Given the description of an element on the screen output the (x, y) to click on. 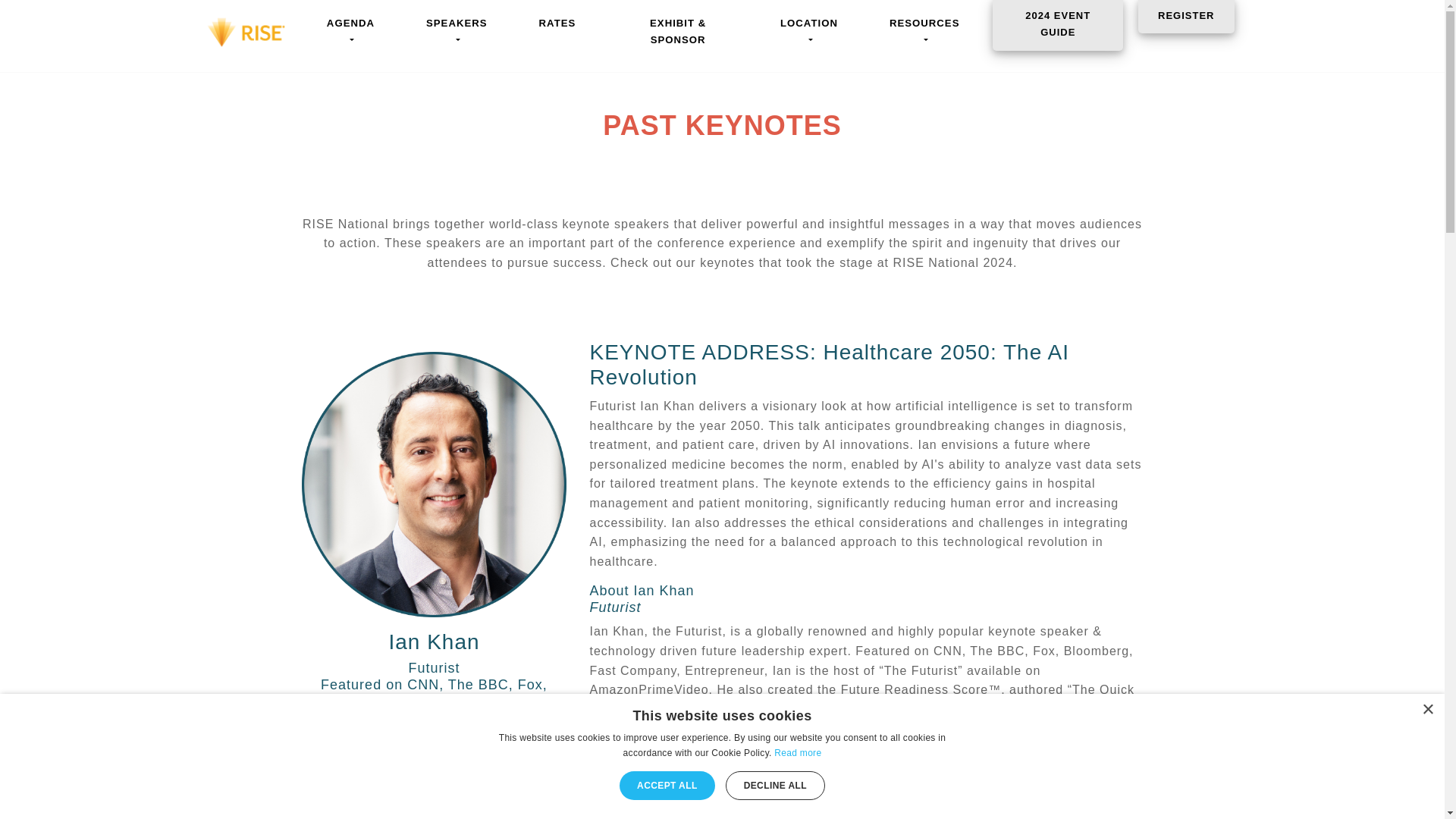
SPEAKERS (456, 31)
RATES (557, 22)
AGENDA (350, 31)
REGISTER (1185, 16)
LOCATION (808, 31)
Read more (797, 752)
RESOURCES (924, 31)
2024 EVENT GUIDE (1057, 25)
